Given the description of an element on the screen output the (x, y) to click on. 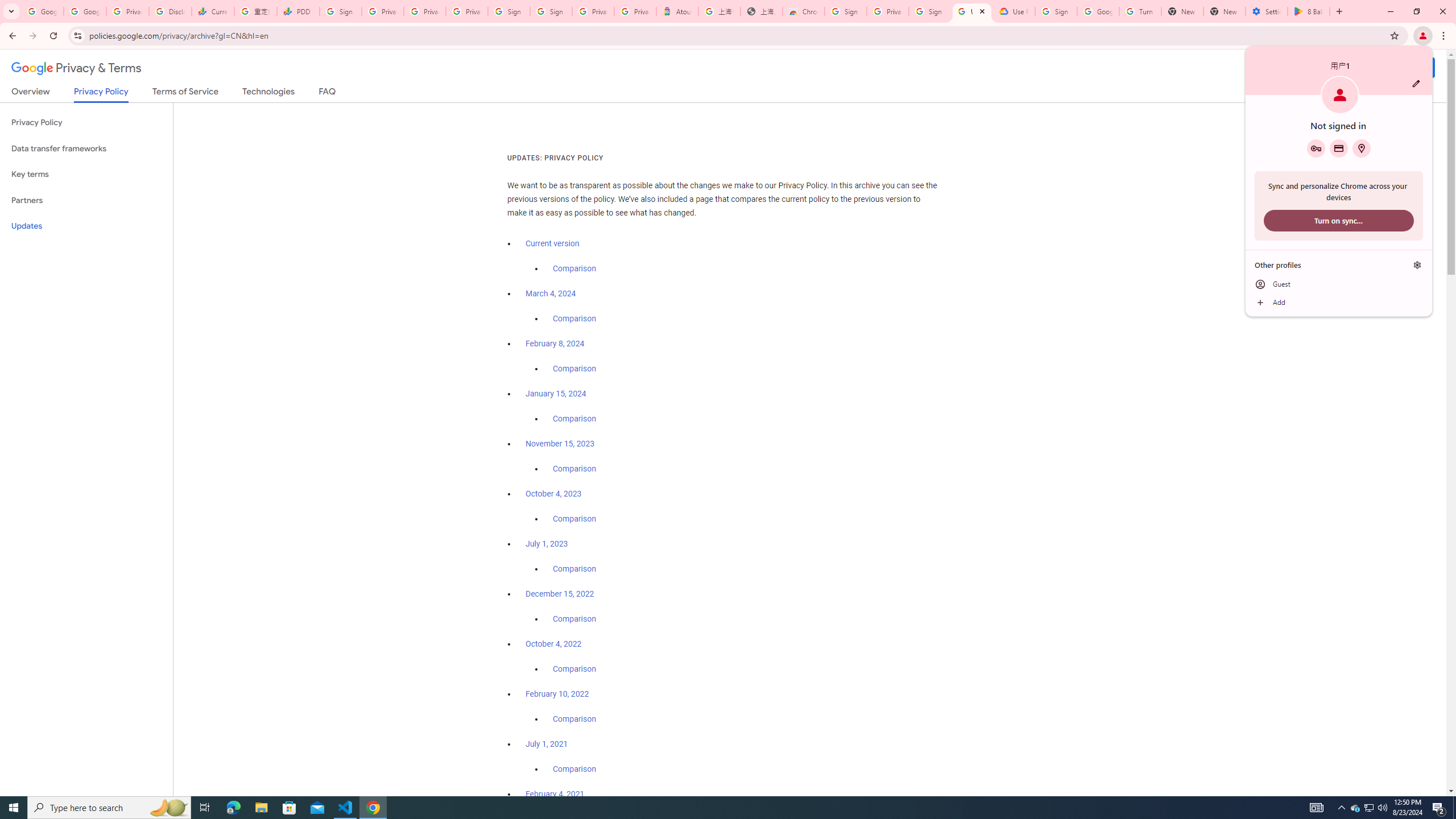
February 4, 2021 (555, 793)
Google Password Manager (1315, 148)
Atour Hotel - Google hotels (676, 11)
Privacy & Terms (76, 68)
Action Center, 2 new notifications (1439, 807)
Google Chrome - 1 running window (373, 807)
Sign in - Google Accounts (509, 11)
February 10, 2022 (557, 693)
Data transfer frameworks (86, 148)
